Given the description of an element on the screen output the (x, y) to click on. 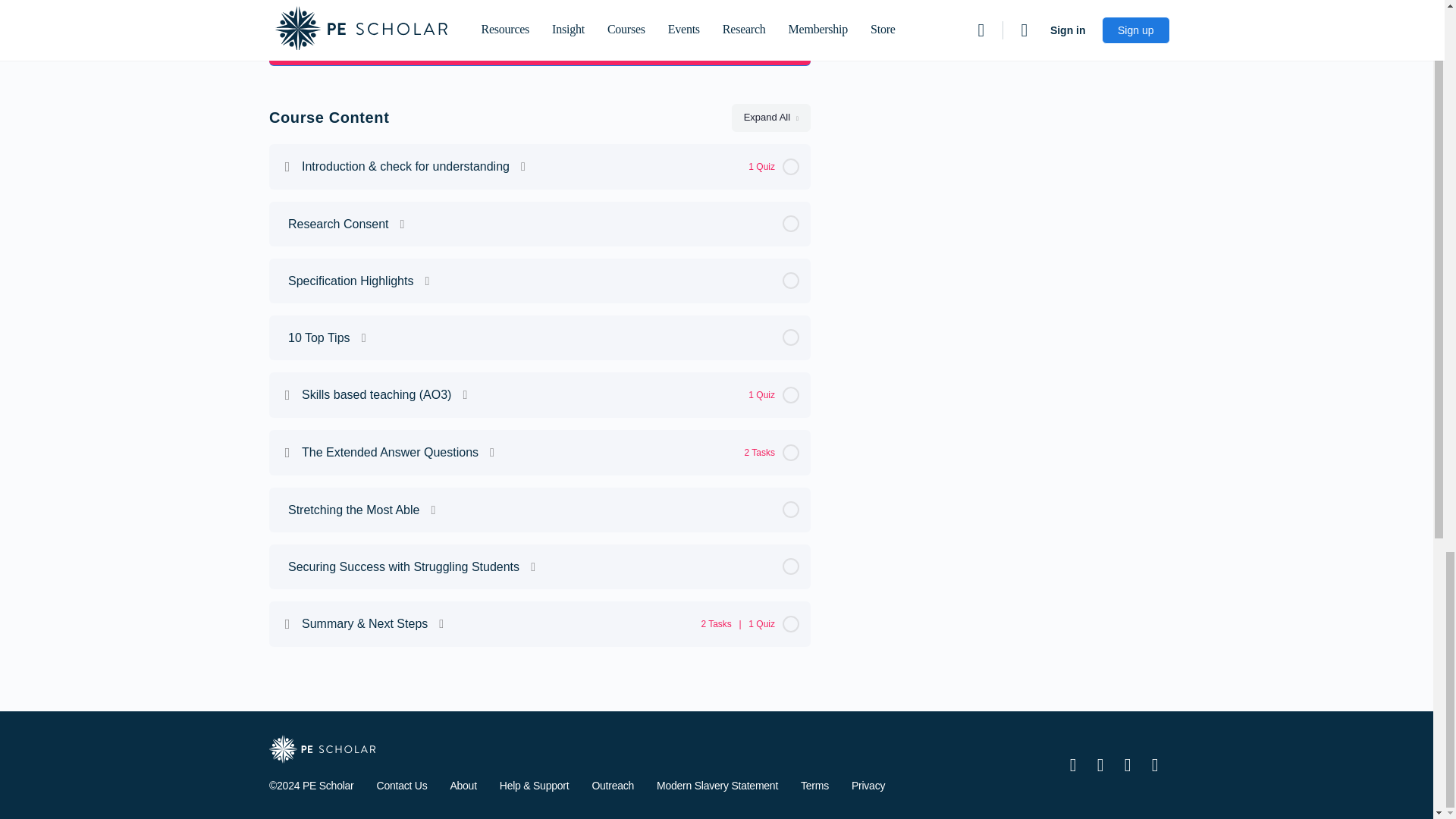
Register Now (539, 50)
Specification Highlights (540, 281)
Research Consent (540, 223)
REGISTER NOW (539, 50)
